Given the description of an element on the screen output the (x, y) to click on. 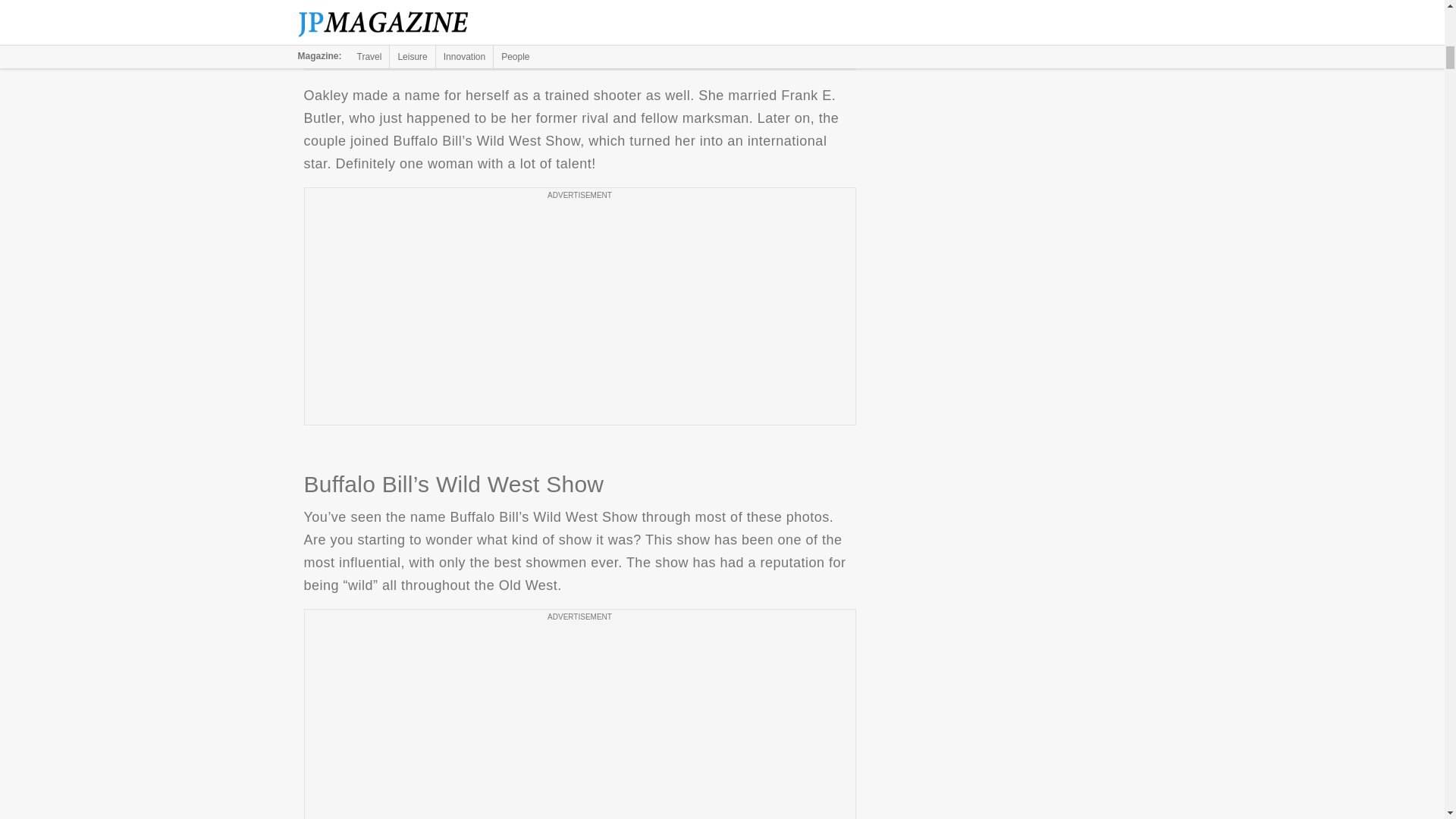
Annie Oakley (579, 28)
